Given the description of an element on the screen output the (x, y) to click on. 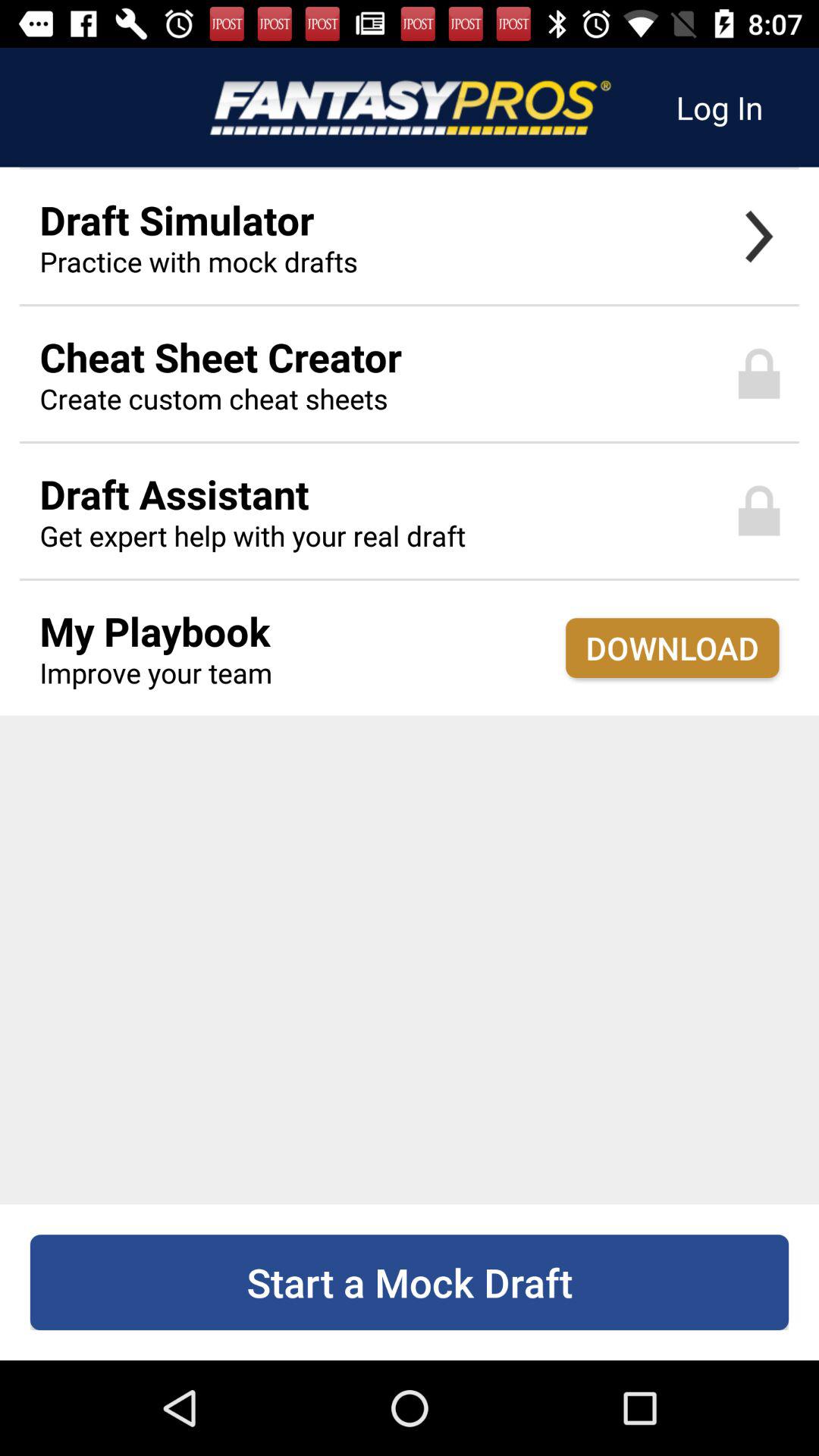
tap start a mock item (409, 1282)
